Given the description of an element on the screen output the (x, y) to click on. 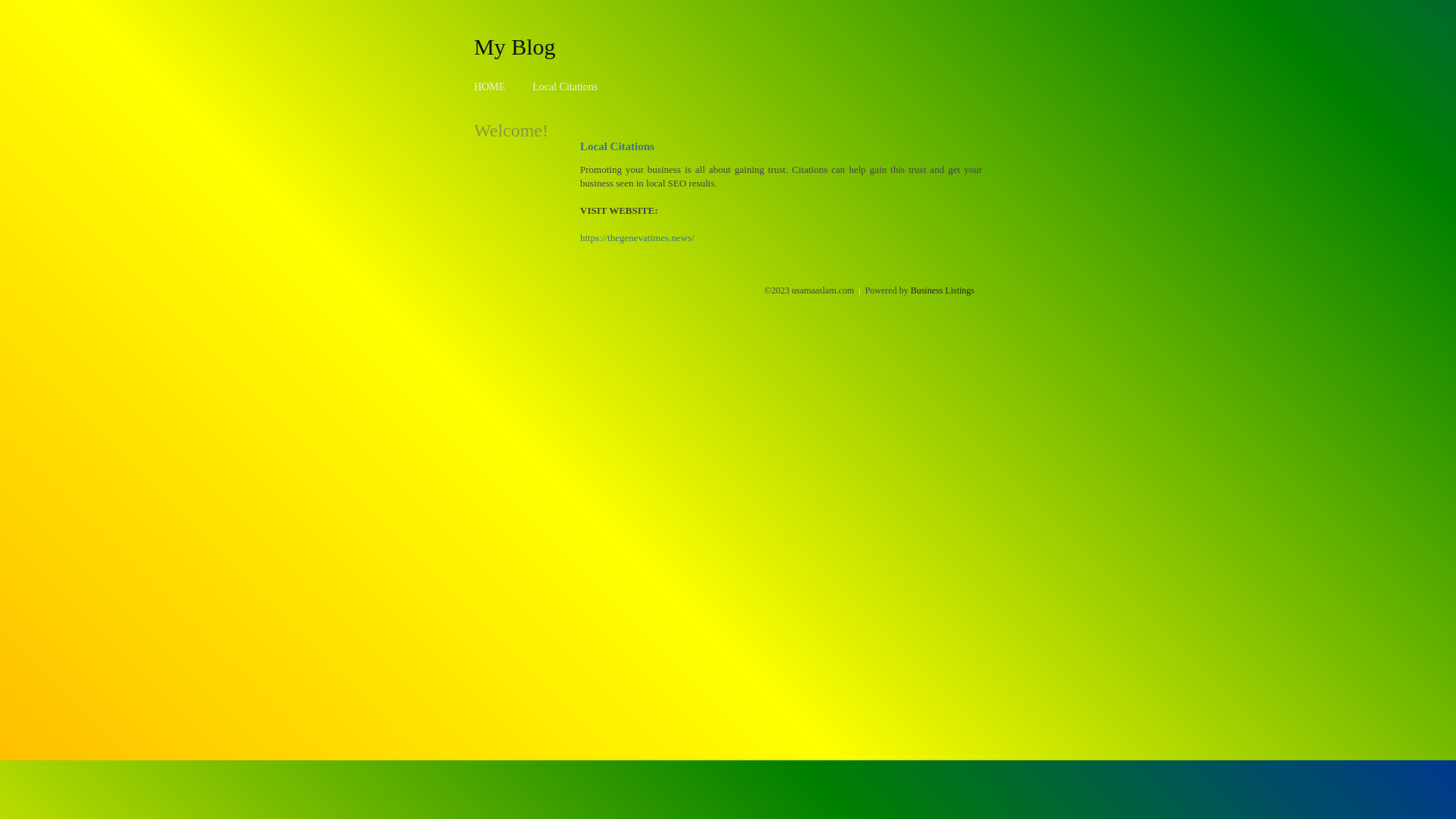
HOME Element type: text (489, 86)
https://thegenevatimes.news/ Element type: text (637, 237)
Business Listings Element type: text (942, 290)
Local Citations Element type: text (564, 86)
My Blog Element type: text (514, 46)
